Given the description of an element on the screen output the (x, y) to click on. 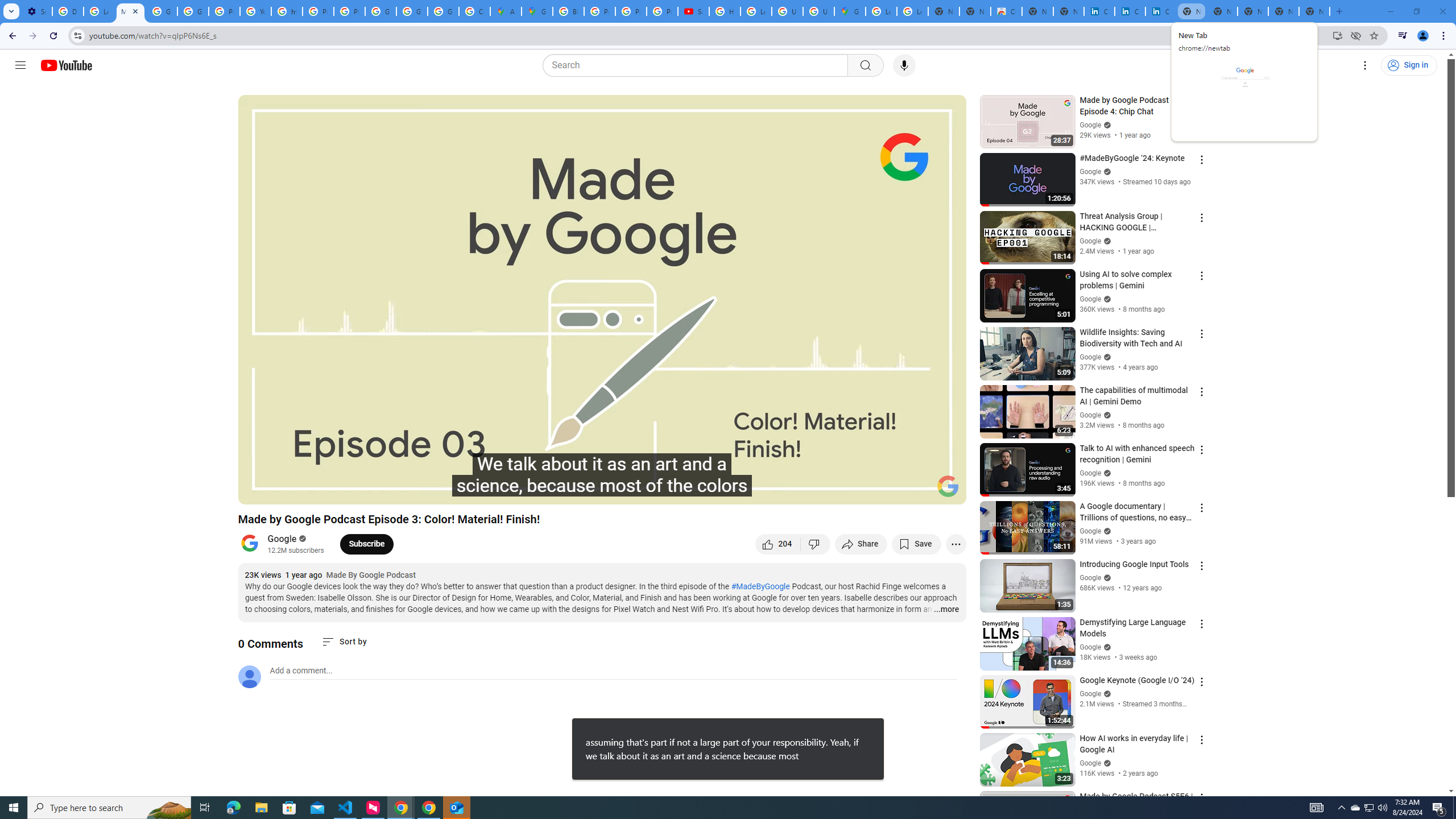
Copyright Policy (1160, 11)
Show desktop (1454, 807)
...more (946, 609)
Next (SHIFT+n) (284, 490)
AutomationID: simplebox-placeholder (301, 670)
